Given the description of an element on the screen output the (x, y) to click on. 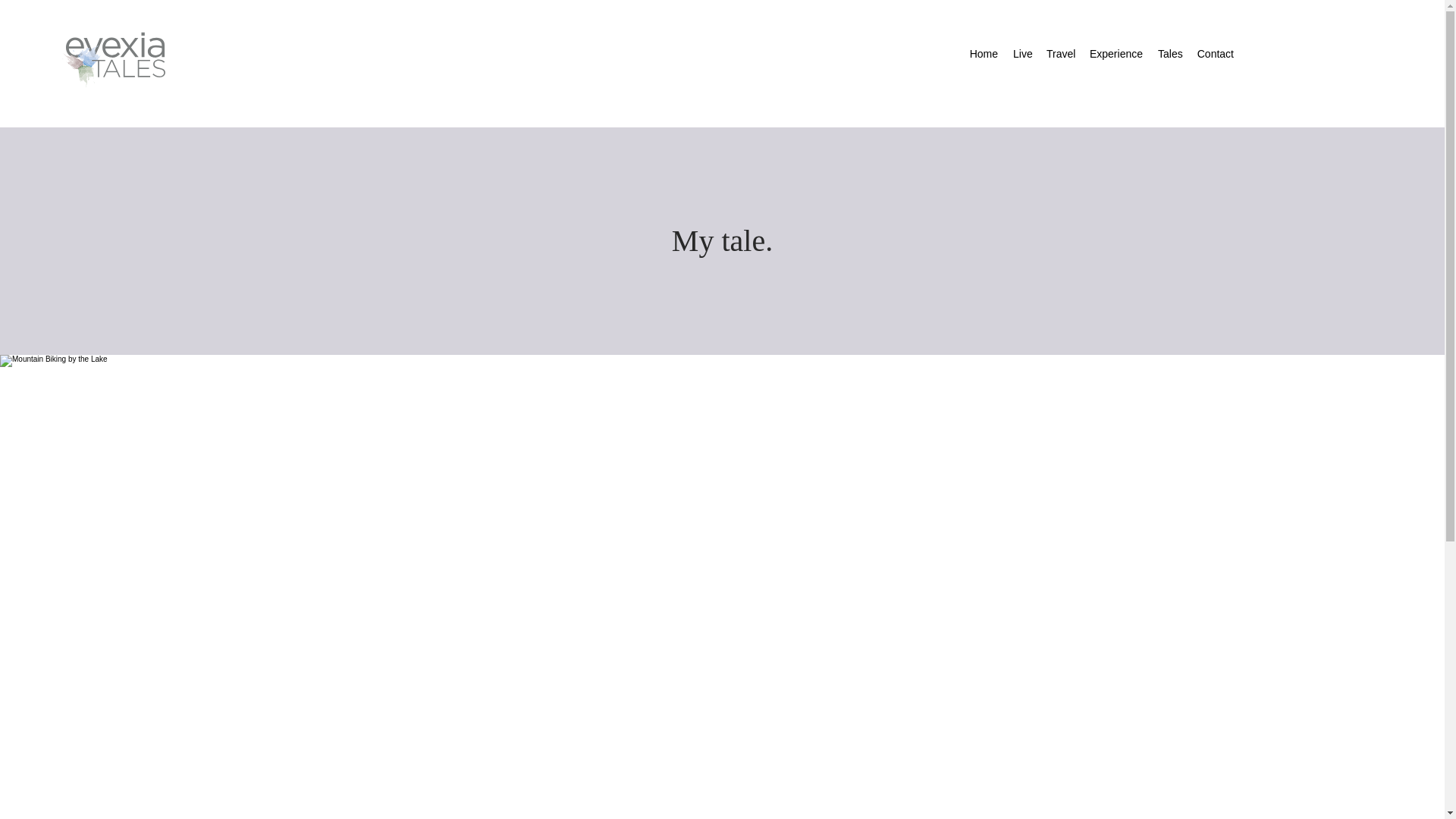
Experience (1115, 53)
Tales (1169, 53)
Contact (1214, 53)
Live (1022, 53)
Home (983, 53)
Travel (1060, 53)
